Given the description of an element on the screen output the (x, y) to click on. 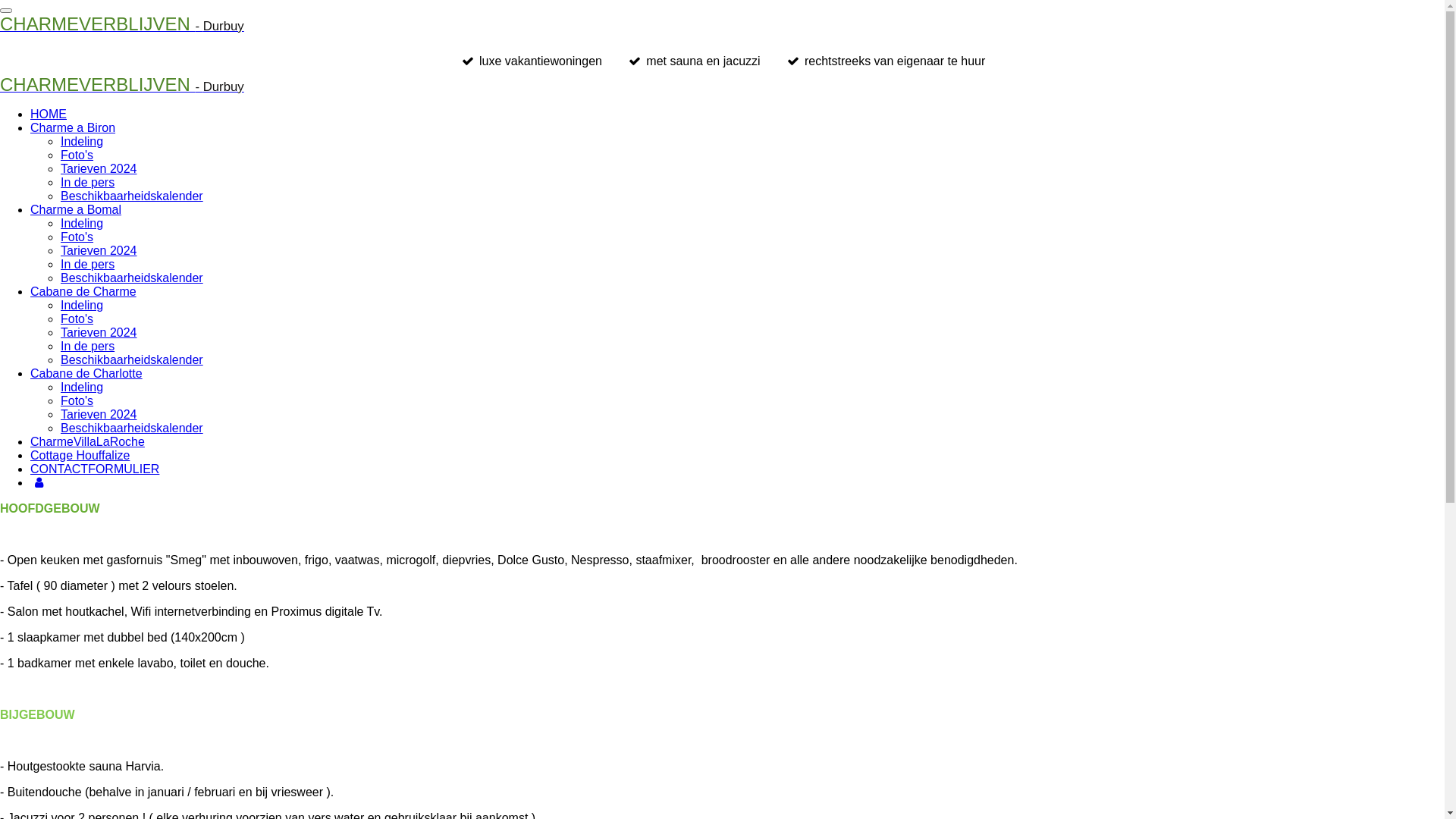
Beschikbaarheidskalender Element type: text (131, 359)
Tarieven 2024 Element type: text (98, 332)
Tarieven 2024 Element type: text (98, 250)
Foto's Element type: text (76, 154)
Foto's Element type: text (76, 318)
CharmeVillaLaRoche Element type: text (87, 441)
Cabane de Charlotte Element type: text (86, 373)
CHARMEVERBLIJVEN - Durbuy Element type: text (122, 25)
Charme a Bomal Element type: text (75, 209)
Tarieven 2024 Element type: text (98, 413)
In de pers Element type: text (87, 263)
Charme a Biron Element type: text (72, 127)
Indeling Element type: text (81, 304)
Beschikbaarheidskalender Element type: text (131, 427)
Tarieven 2024 Element type: text (98, 168)
Indeling Element type: text (81, 386)
Account Element type: hover (38, 482)
CHARMEVERBLIJVEN - Durbuy Element type: text (122, 86)
Beschikbaarheidskalender Element type: text (131, 195)
CONTACTFORMULIER Element type: text (94, 468)
Cabane de Charme Element type: text (83, 291)
Cottage Houffalize Element type: text (79, 454)
Indeling Element type: text (81, 222)
HOME Element type: text (48, 113)
Foto's Element type: text (76, 236)
Foto's Element type: text (76, 400)
Beschikbaarheidskalender Element type: text (131, 277)
Indeling Element type: text (81, 140)
In de pers Element type: text (87, 345)
In de pers Element type: text (87, 181)
